Given the description of an element on the screen output the (x, y) to click on. 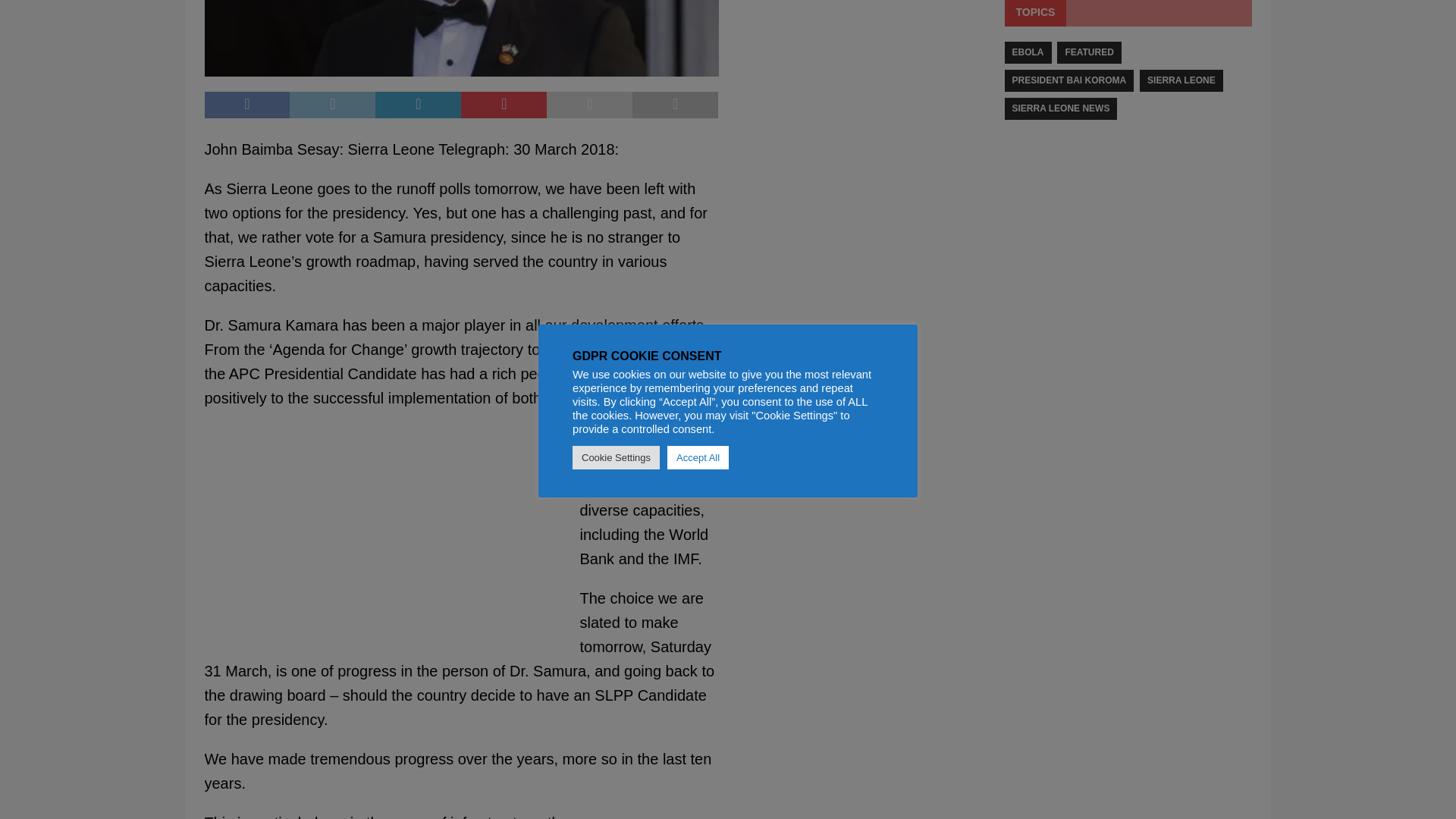
SAMURA KAMARA (462, 38)
